Given the description of an element on the screen output the (x, y) to click on. 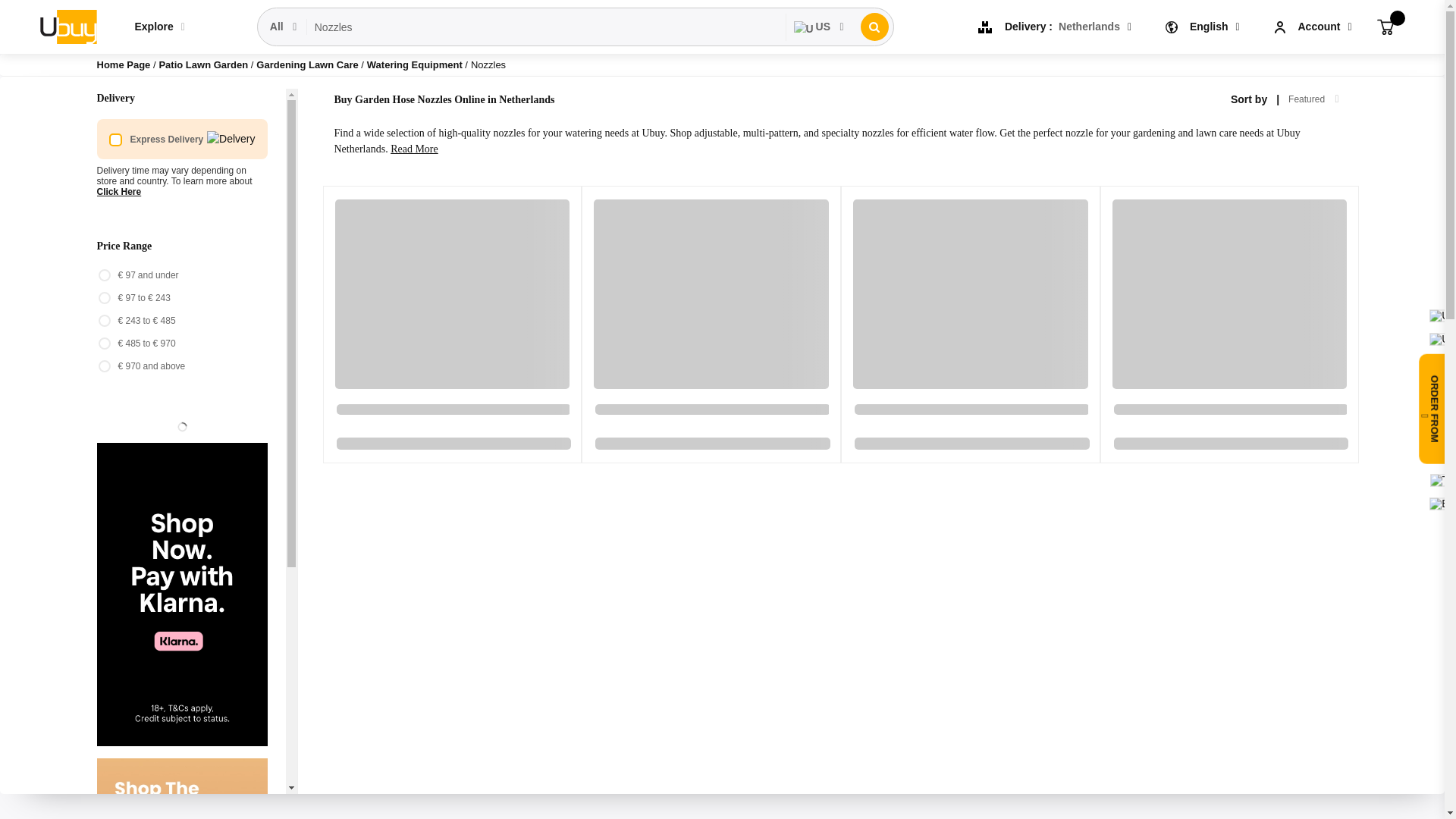
US (819, 26)
Nozzles (546, 26)
Home Page (124, 64)
Ubuy (67, 26)
Nozzles (546, 26)
All (283, 26)
Home Page (124, 64)
Cart (1385, 26)
